Given the description of an element on the screen output the (x, y) to click on. 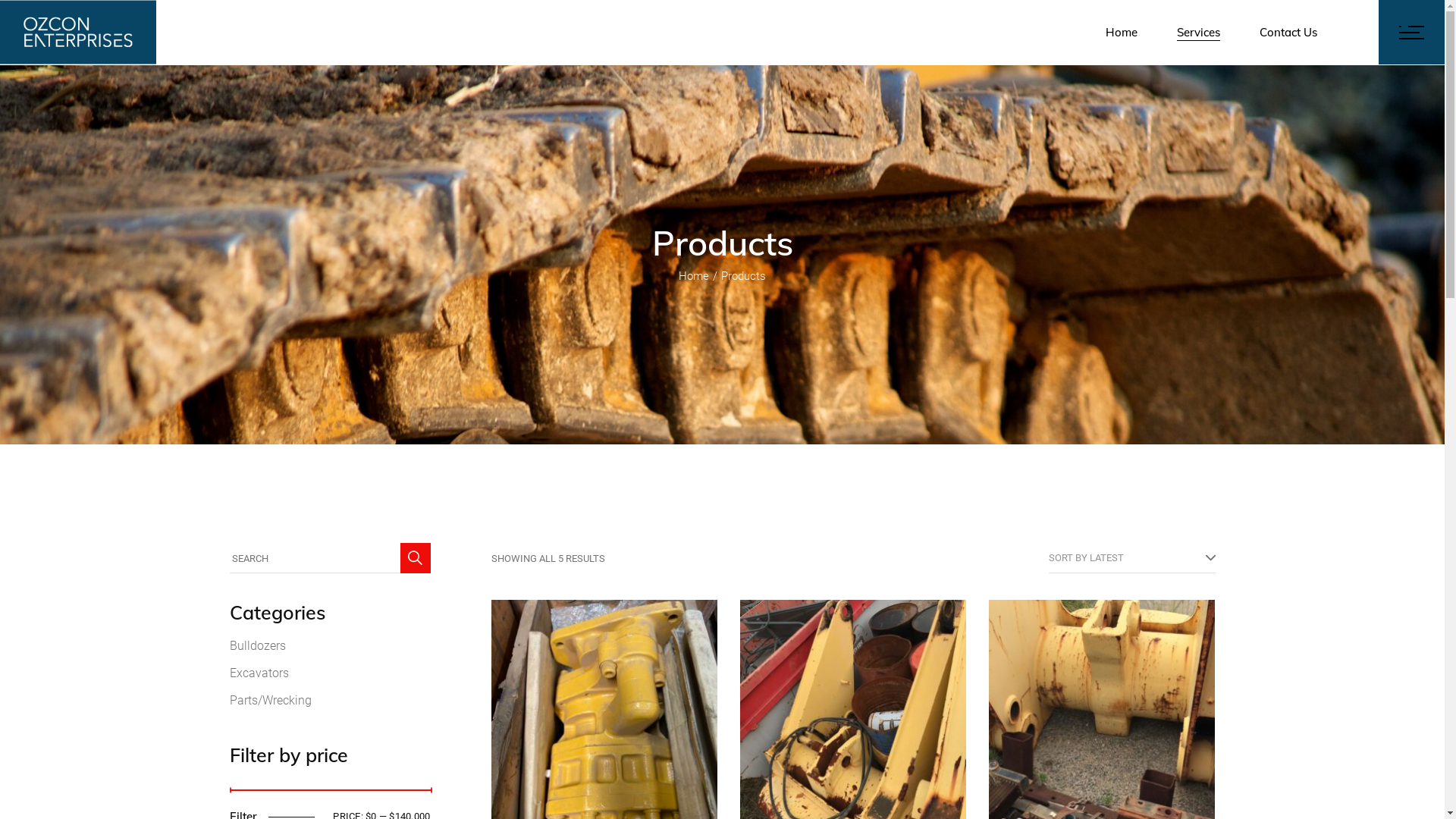
Services Element type: text (1198, 32)
Excavators Element type: text (258, 672)
Contact Us Element type: text (1288, 32)
Parts/Wrecking Element type: text (269, 700)
Bulldozers Element type: text (257, 645)
Home Element type: text (693, 275)
Home Element type: text (1121, 32)
